Given the description of an element on the screen output the (x, y) to click on. 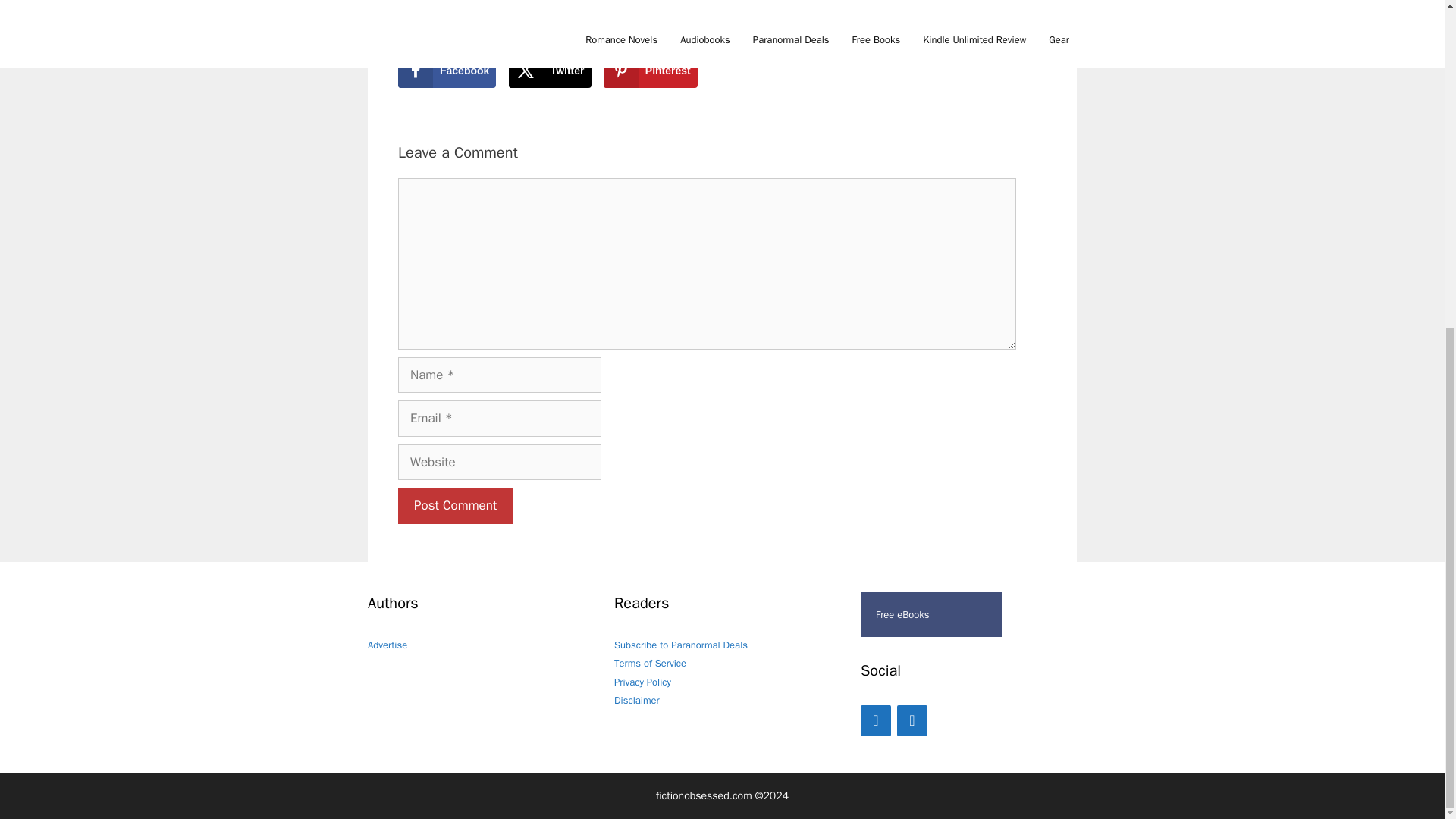
Subscribe to Paranormal Deals (681, 644)
Terms of Service (649, 662)
Twitter (549, 70)
Facebook (875, 720)
Facebook (446, 70)
Privacy Policy (642, 681)
Post Comment (454, 505)
Post Comment (454, 505)
Advertise (387, 644)
Pinterest (911, 720)
Save to Pinterest (650, 70)
Free eBooks (930, 615)
Share on Facebook (446, 70)
Share on X (549, 70)
Disclaimer (636, 699)
